Given the description of an element on the screen output the (x, y) to click on. 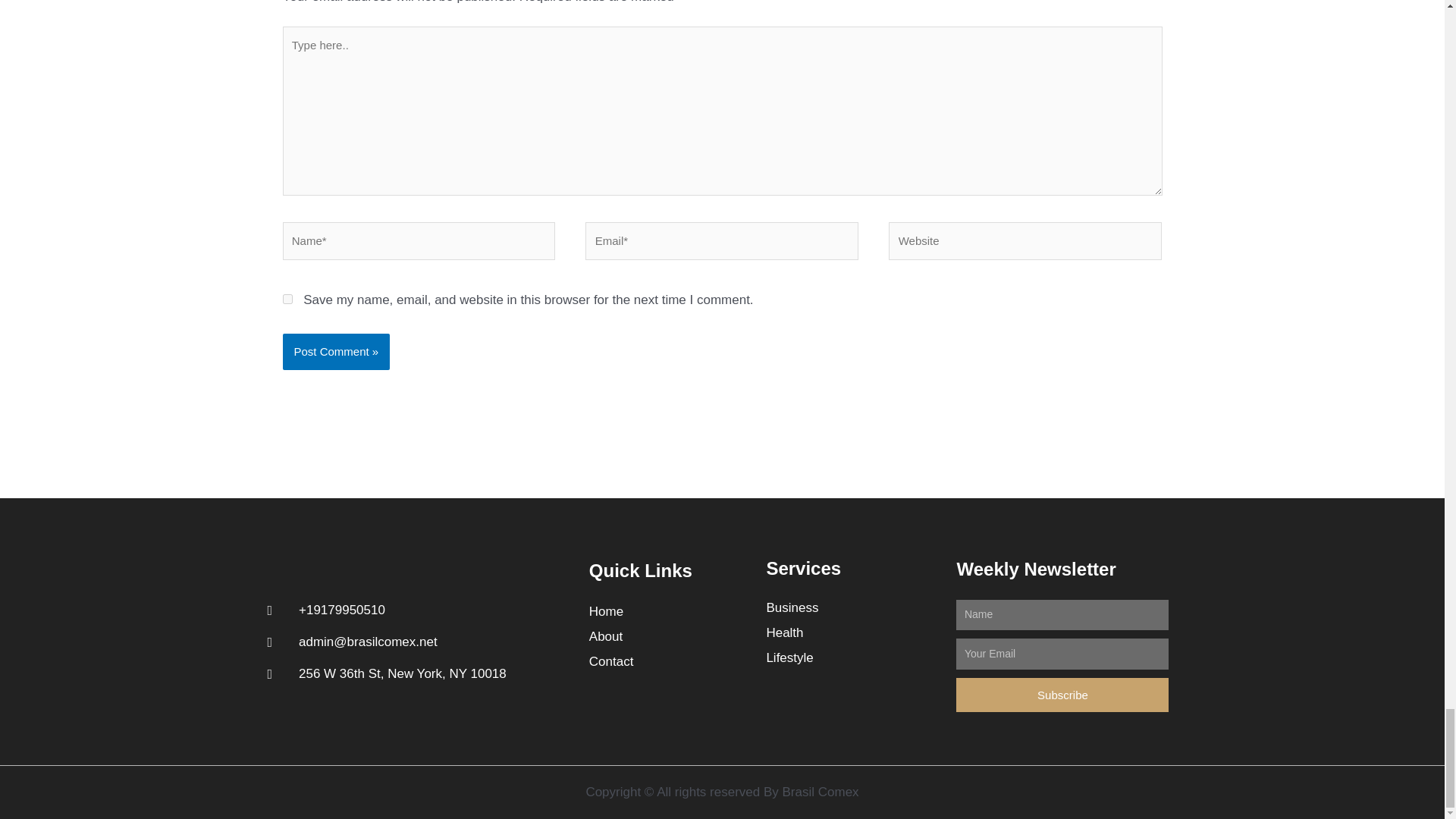
yes (287, 298)
Home (670, 611)
About (670, 636)
Subscribe (1062, 694)
Health (852, 632)
Business (852, 608)
Contact (670, 661)
Lifestyle (852, 658)
